Given the description of an element on the screen output the (x, y) to click on. 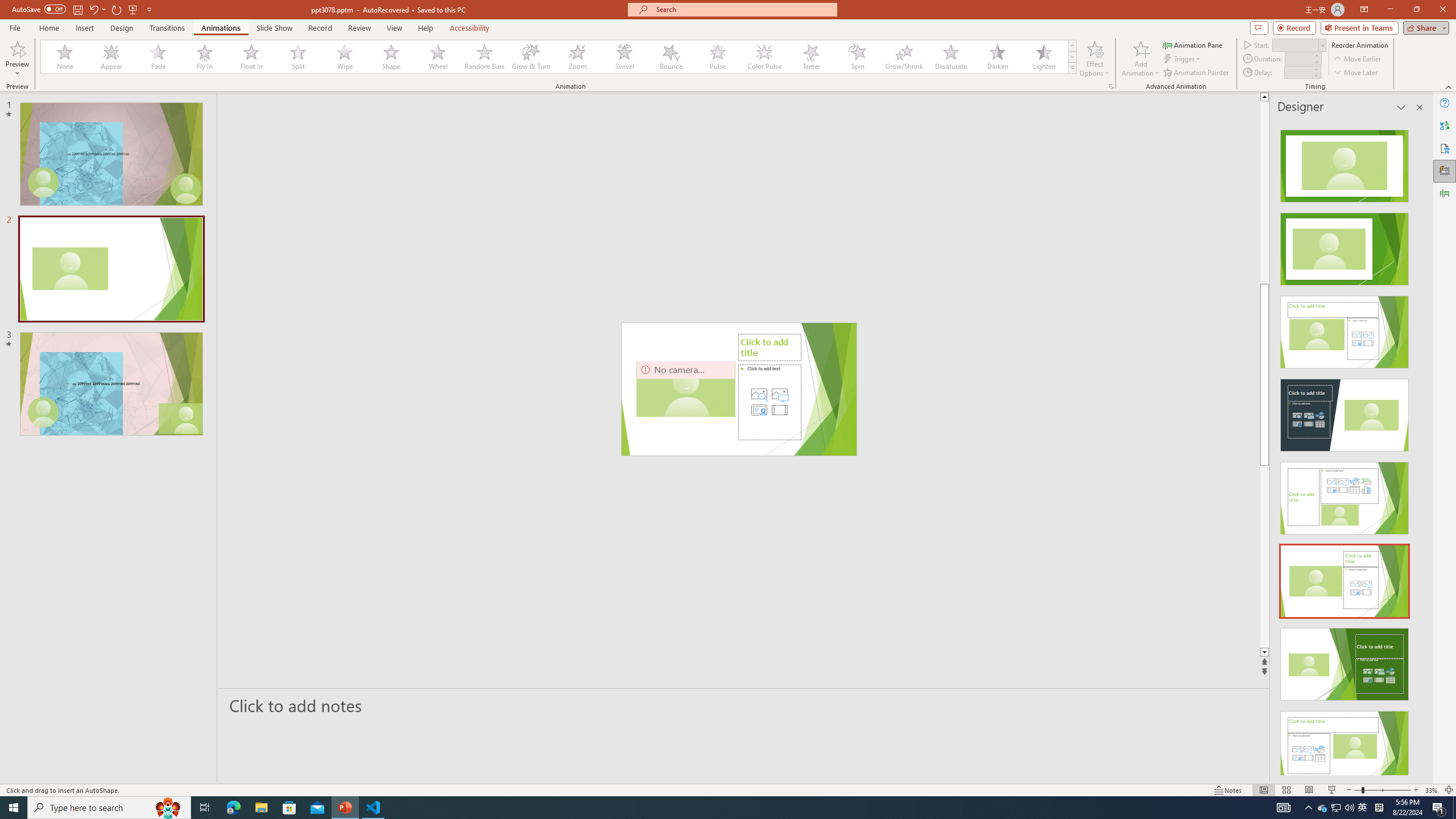
Class: NetUIScrollBar (1418, 447)
Record (1294, 27)
Grow/Shrink (903, 56)
Zoom Out (1357, 790)
Trigger (1182, 58)
Float In (251, 56)
Animations (220, 28)
Designer (1444, 170)
Slide Show (1331, 790)
Less (1315, 75)
Bounce (670, 56)
Transitions (167, 28)
System (6, 6)
Slide Notes (743, 705)
Quick Access Toolbar (82, 9)
